Given the description of an element on the screen output the (x, y) to click on. 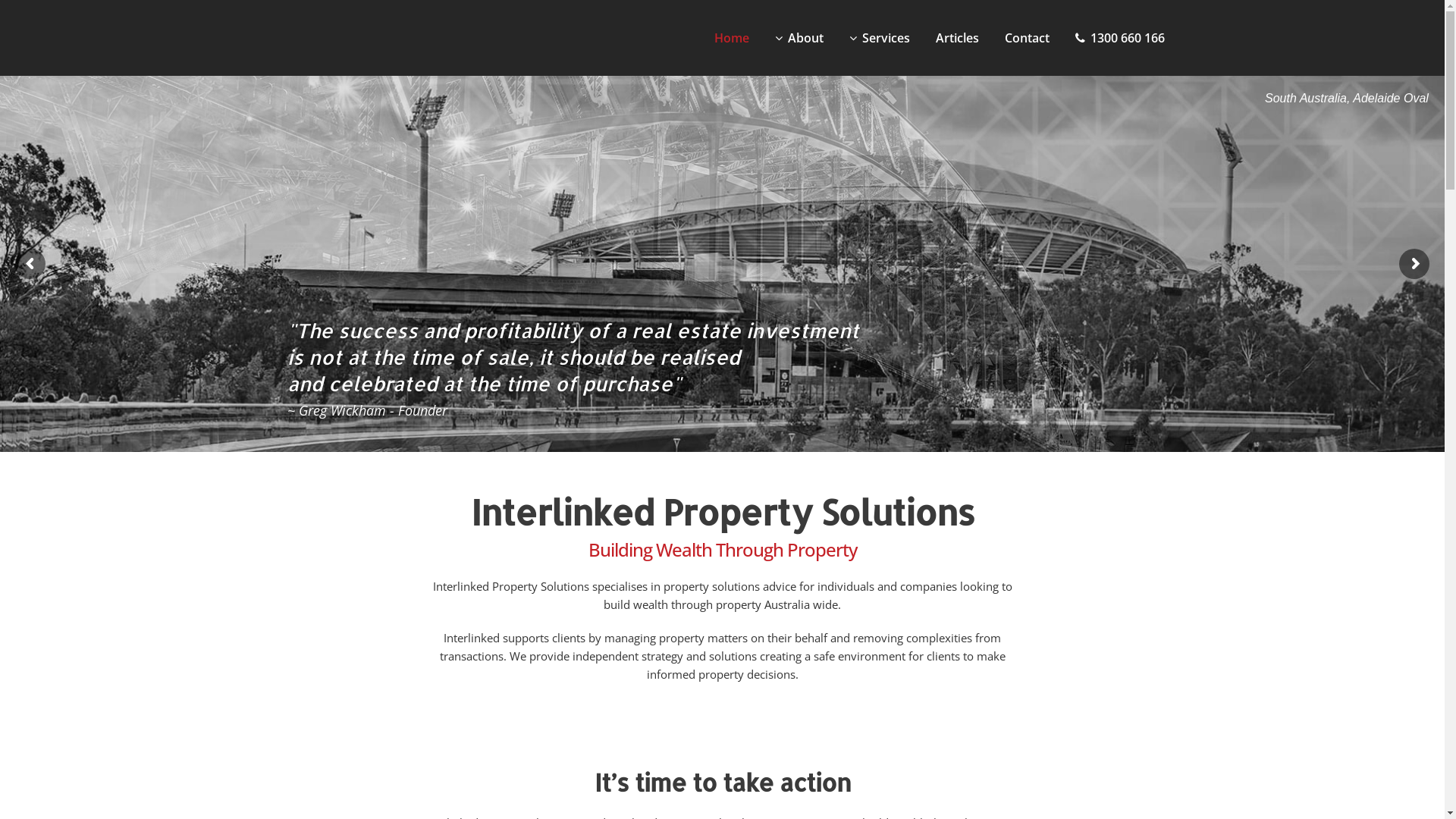
Services Element type: text (878, 37)
Home Element type: text (730, 37)
Contact Element type: text (1026, 37)
Articles Element type: text (956, 37)
1300 660 166 Element type: text (1118, 37)
About Element type: text (798, 37)
